Given the description of an element on the screen output the (x, y) to click on. 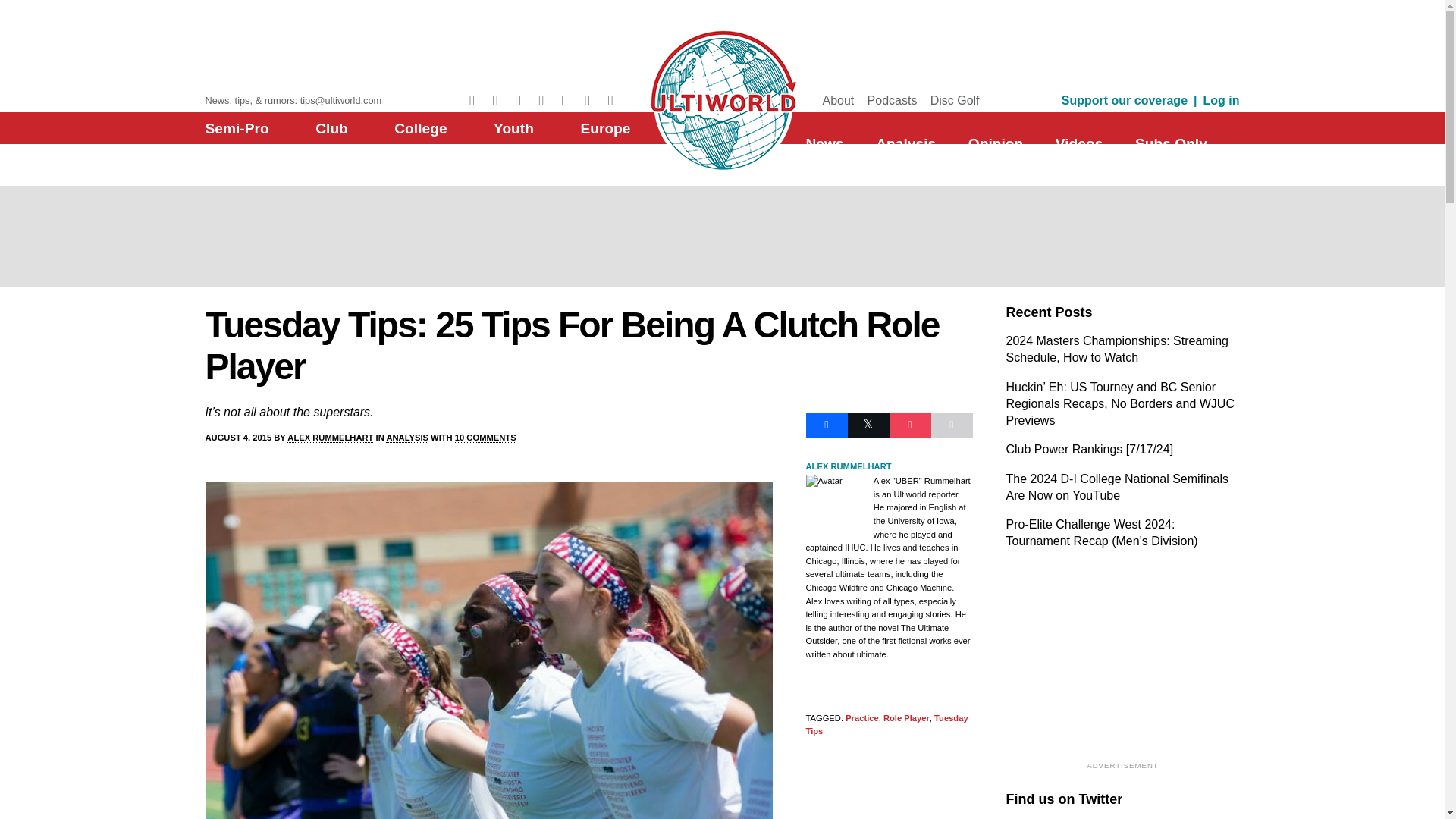
Log in (1222, 100)
Subs Only (1171, 143)
Opinion (995, 143)
News (824, 143)
About (837, 100)
View all posts by Alex Rummelhart (329, 438)
Club (331, 128)
Support our coverage (1124, 100)
Disc Golf (954, 100)
Ultiworld (721, 98)
Podcasts (892, 100)
Videos (1079, 143)
College (420, 128)
Analysis (906, 143)
Semi-Pro (236, 128)
